Given the description of an element on the screen output the (x, y) to click on. 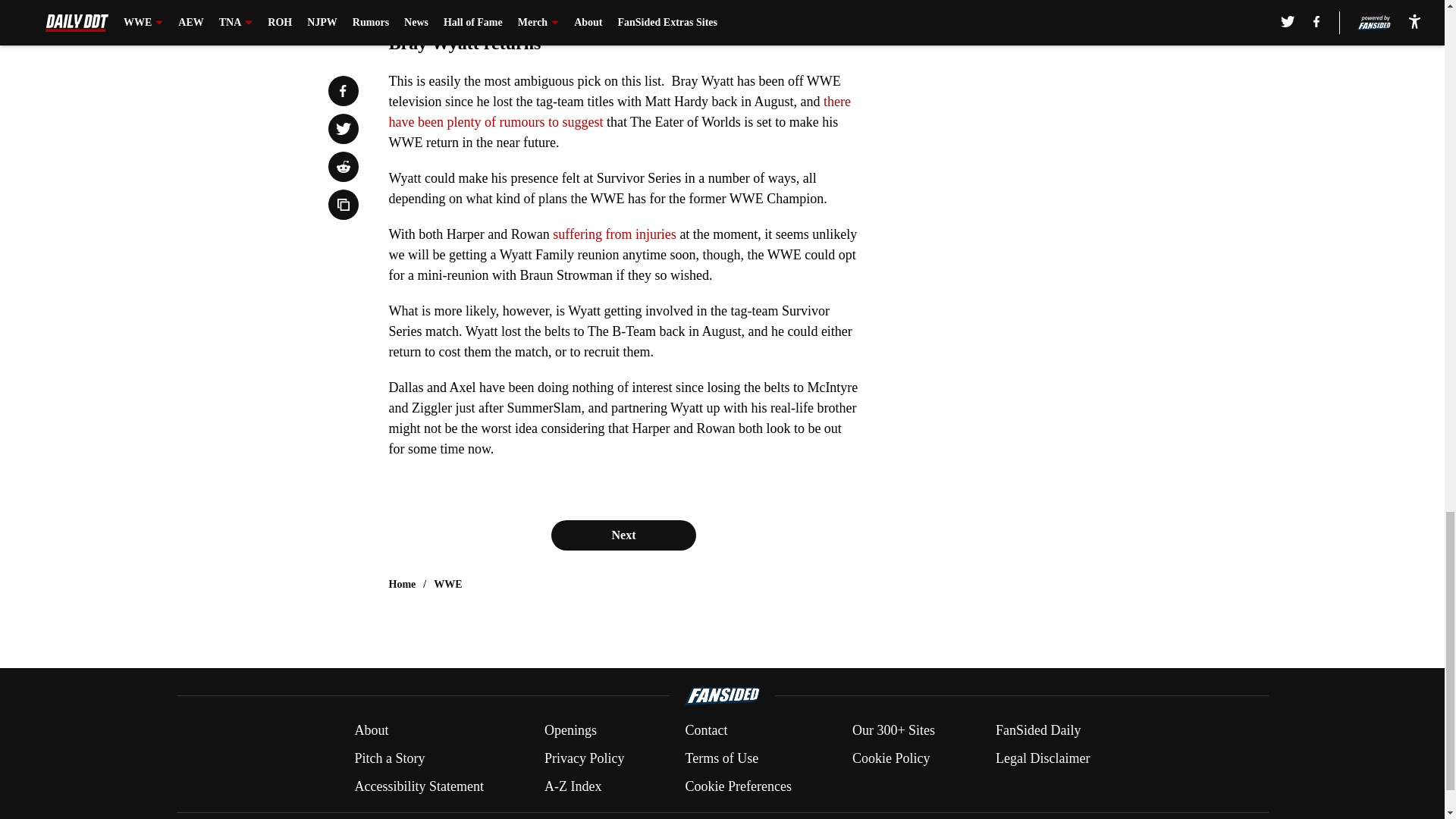
there have been plenty of rumours to suggest (619, 111)
suffering from injuries (615, 233)
Next (622, 535)
Home (401, 584)
